Given the description of an element on the screen output the (x, y) to click on. 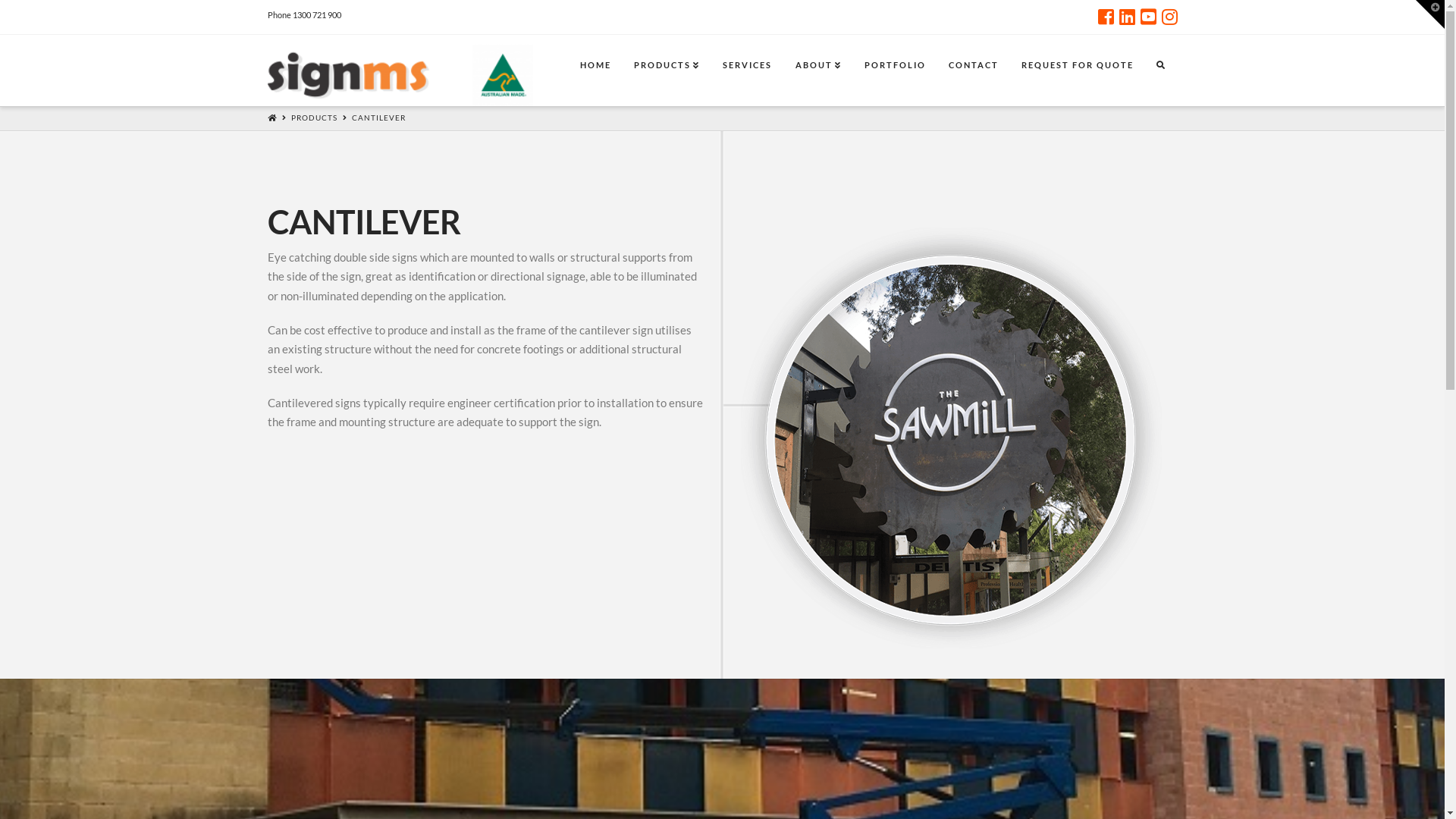
HOME Element type: text (594, 68)
ABOUT Element type: text (818, 68)
Toggle the Widgetbar Element type: text (1429, 14)
PRODUCTS Element type: text (314, 117)
Facebook Element type: hover (1105, 16)
PRODUCTS Element type: text (666, 68)
LinkedIn Element type: hover (1127, 16)
SERVICES Element type: text (746, 68)
REQUEST FOR QUOTE Element type: text (1076, 68)
CANTILEVER Element type: text (378, 117)
Instagram Element type: hover (1169, 16)
PORTFOLIO Element type: text (894, 68)
CONTACT Element type: text (972, 68)
YouTube Element type: hover (1148, 16)
